Given the description of an element on the screen output the (x, y) to click on. 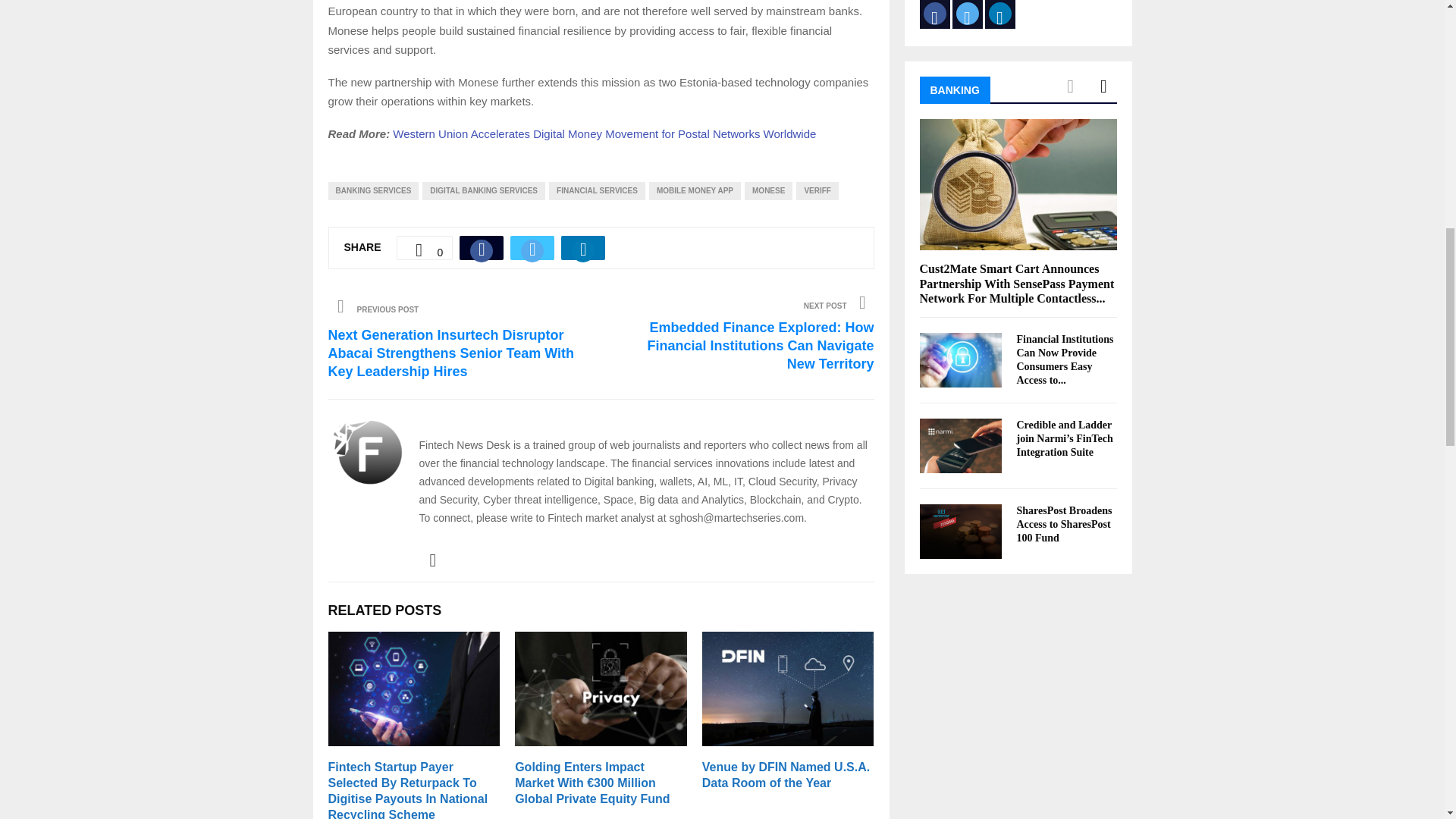
Like (424, 247)
SharesPost Broadens Access to SharesPost 100 Fund (959, 531)
 SharesPost Broadens Access to SharesPost 100 Fund  (1064, 524)
Posts by Fintech News Desk (481, 420)
